Given the description of an element on the screen output the (x, y) to click on. 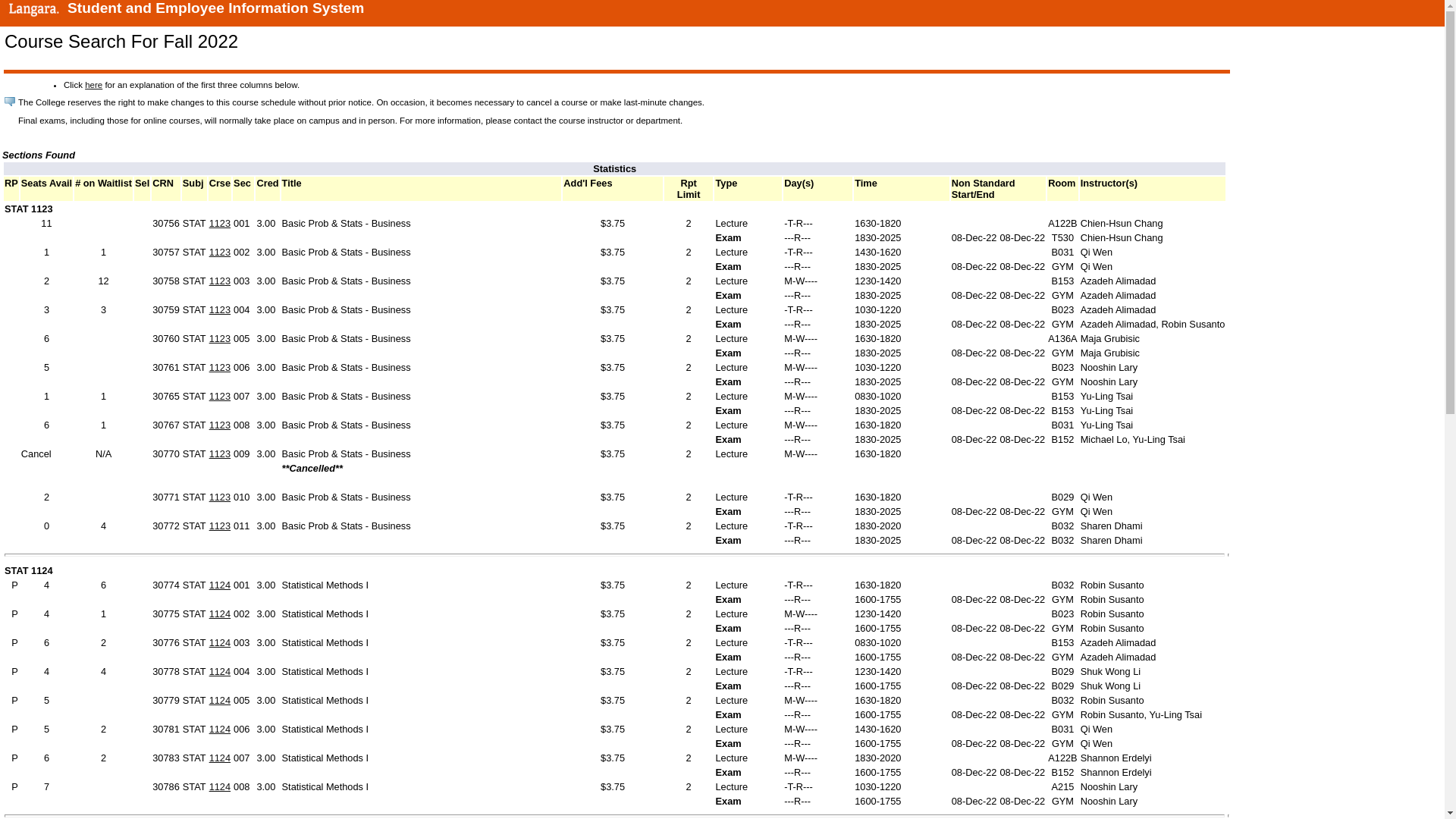
1124 Element type: text (219, 584)
1123 Element type: text (219, 424)
1123 Element type: text (219, 280)
1124 Element type: text (219, 700)
1124 Element type: text (219, 671)
1124 Element type: text (219, 786)
1123 Element type: text (219, 223)
1123 Element type: text (219, 309)
Information Element type: hover (9, 101)
1124 Element type: text (219, 757)
1123 Element type: text (219, 367)
1123 Element type: text (219, 496)
here Element type: text (93, 84)
1123 Element type: text (219, 395)
Langara College Element type: hover (33, 9)
1123 Element type: text (219, 453)
1123 Element type: text (219, 525)
1124 Element type: text (219, 613)
1123 Element type: text (219, 338)
1124 Element type: text (219, 642)
Transparent Image Element type: hover (8, 71)
1123 Element type: text (219, 251)
1124 Element type: text (219, 728)
